Given the description of an element on the screen output the (x, y) to click on. 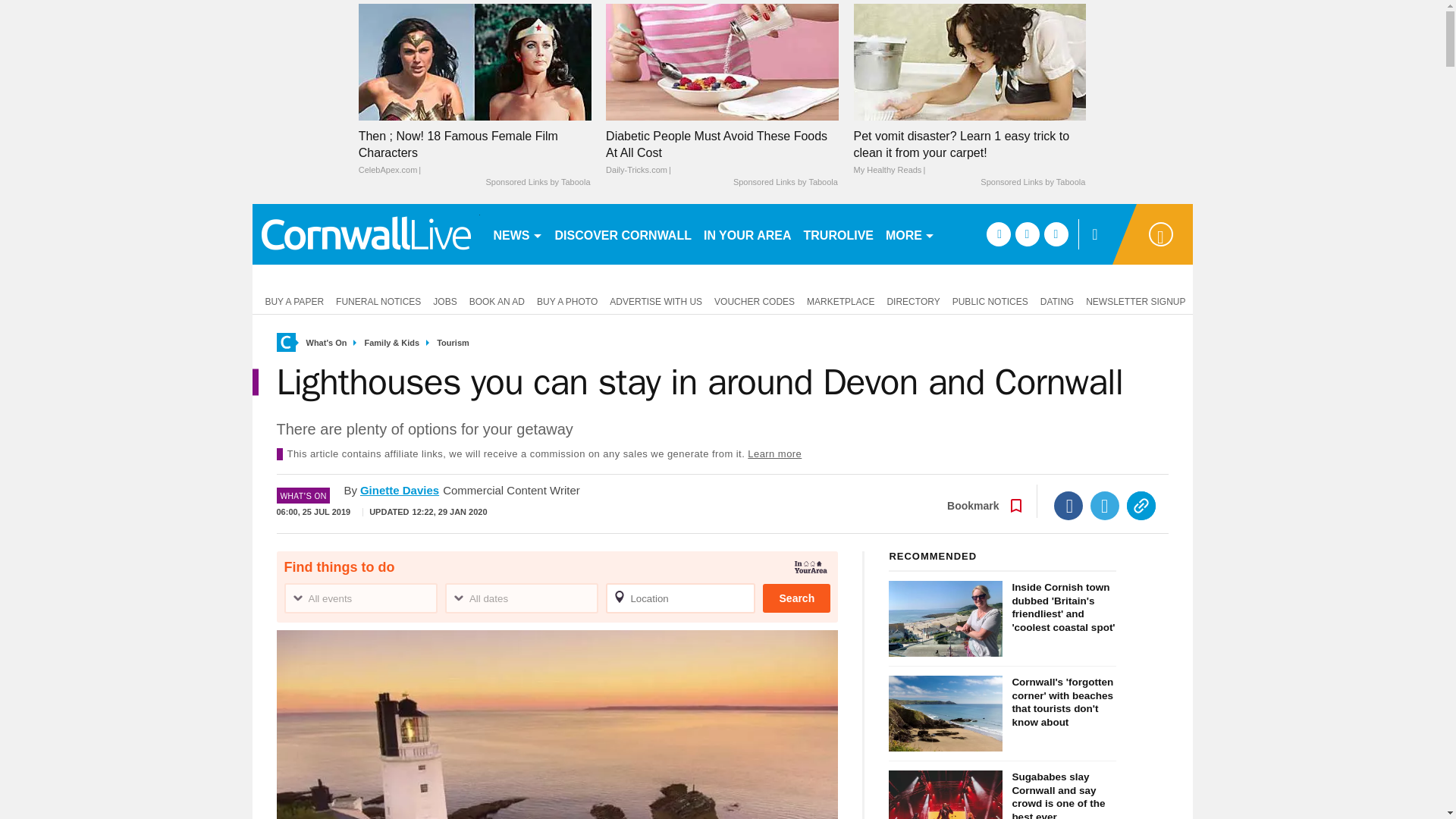
facebook (997, 233)
NEWS (517, 233)
Then ; Now! 18 Famous Female Film Characters (474, 152)
Facebook (1068, 505)
cornwalllive (365, 233)
Sponsored Links by Taboola (785, 182)
Then ; Now! 18 Famous Female Film Characters (474, 61)
twitter (1026, 233)
Sponsored Links by Taboola (1031, 182)
Sponsored Links by Taboola (536, 182)
IN YOUR AREA (747, 233)
Twitter (1104, 505)
